Given the description of an element on the screen output the (x, y) to click on. 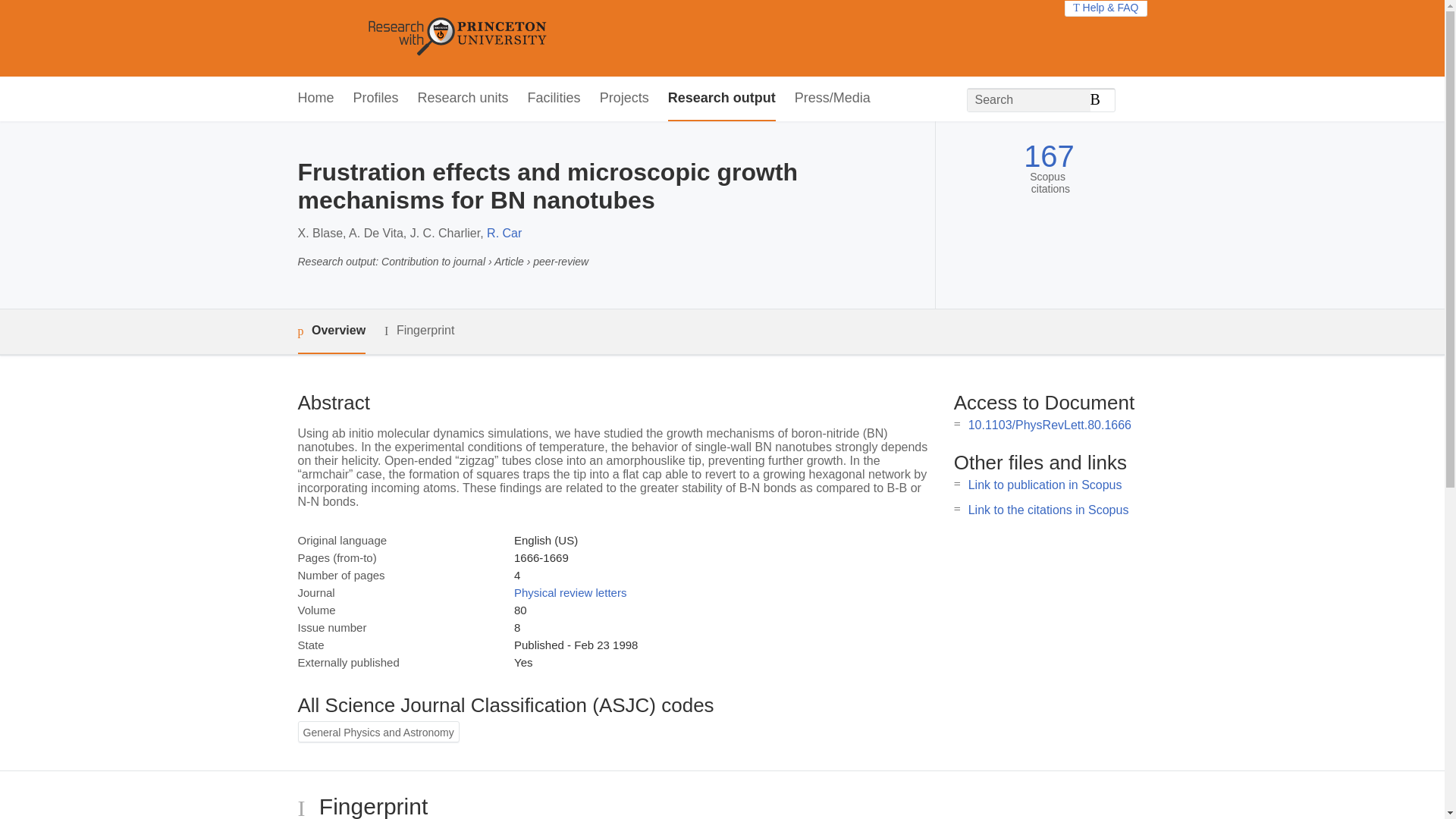
Link to the citations in Scopus (1048, 509)
Facilities (553, 98)
Overview (331, 331)
Fingerprint (419, 330)
Physical review letters (569, 592)
Projects (624, 98)
Link to publication in Scopus (1045, 484)
Research units (462, 98)
Profiles (375, 98)
Research output (722, 98)
167 (1048, 156)
Princeton University Home (567, 38)
R. Car (503, 232)
